Given the description of an element on the screen output the (x, y) to click on. 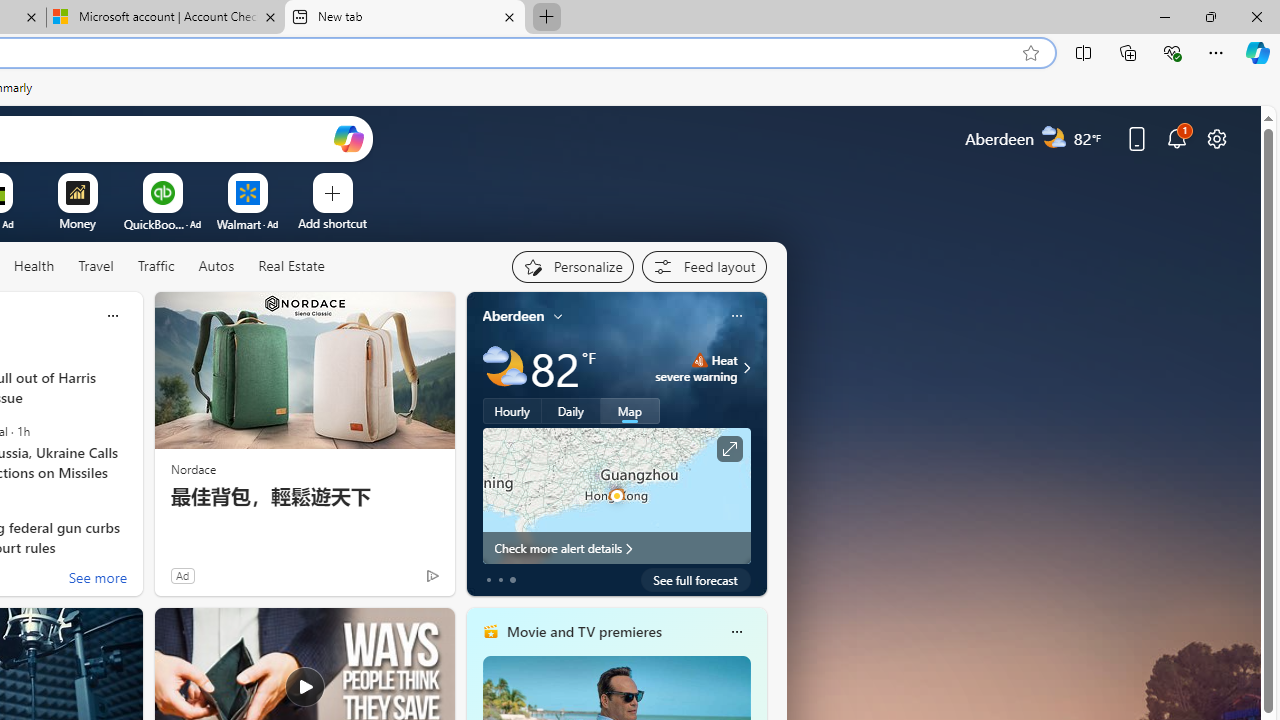
Heat - Severe (699, 359)
Ad Choice (432, 575)
Personalize your feed" (571, 266)
Health (33, 267)
Click to see more information (728, 449)
Microsoft account | Account Checkup (166, 17)
Map (630, 411)
Travel (95, 267)
Health (34, 265)
Hourly (511, 411)
